Given the description of an element on the screen output the (x, y) to click on. 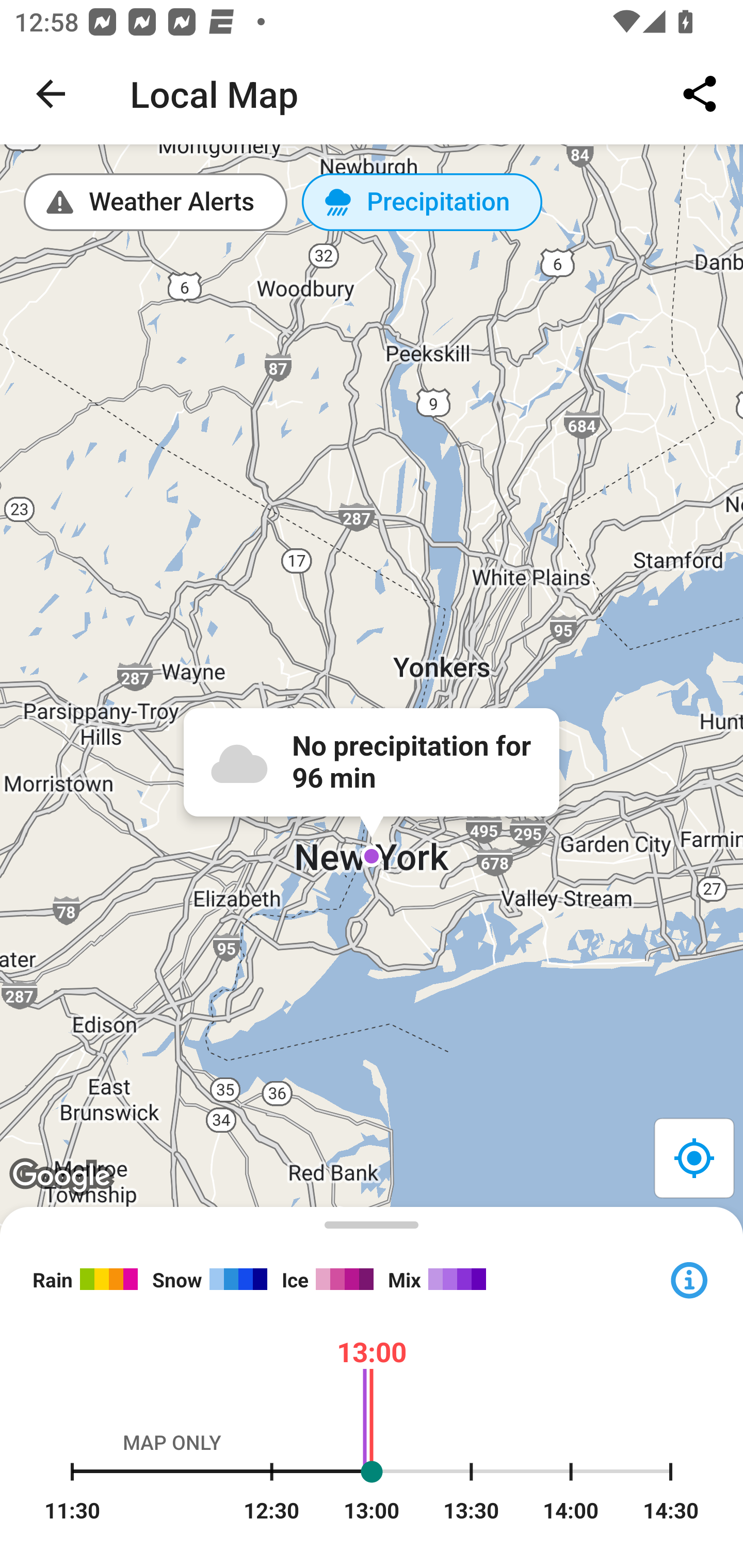
Navigate up (50, 93)
Share (699, 93)
Weather Alerts (155, 202)
Precipitation (421, 202)
My location button (693, 1157)
Map legend info. (688, 1278)
